Given the description of an element on the screen output the (x, y) to click on. 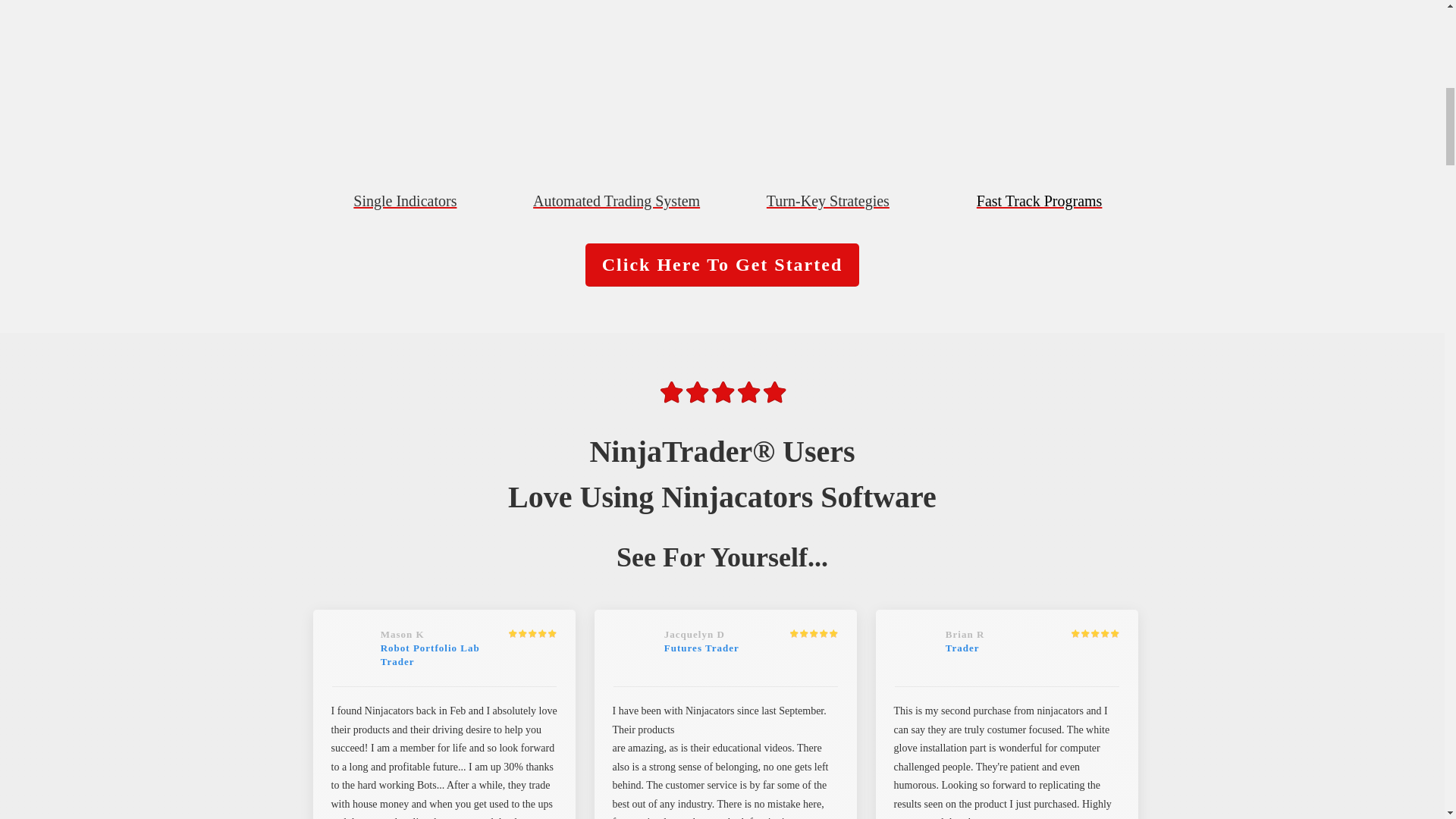
Click Here To Get Started (722, 264)
Automated Trading System (616, 200)
Turn-Key Strategies (828, 200)
Fast Track Programs (1039, 200)
Single Indicators (405, 200)
